Given the description of an element on the screen output the (x, y) to click on. 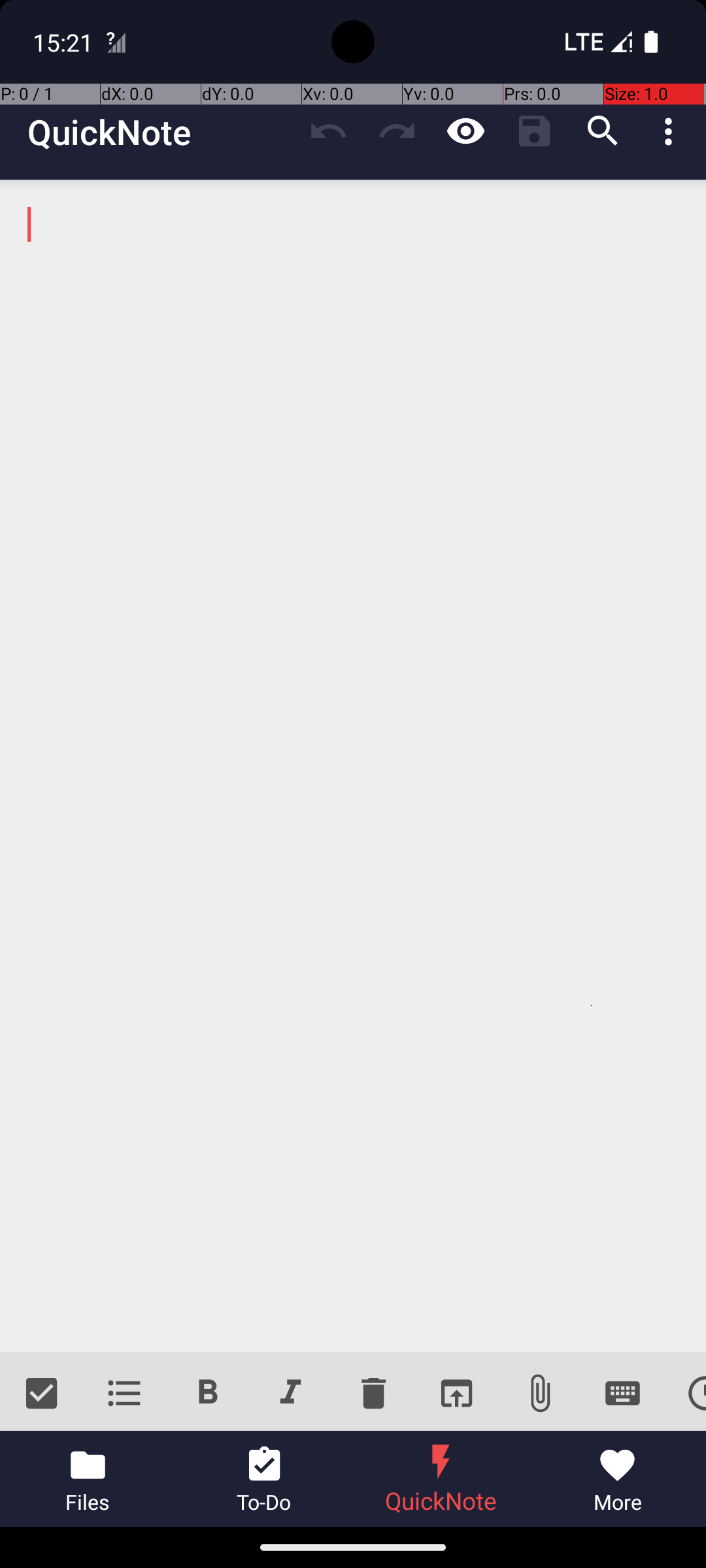
15:21 Element type: android.widget.TextView (64, 41)
